Given the description of an element on the screen output the (x, y) to click on. 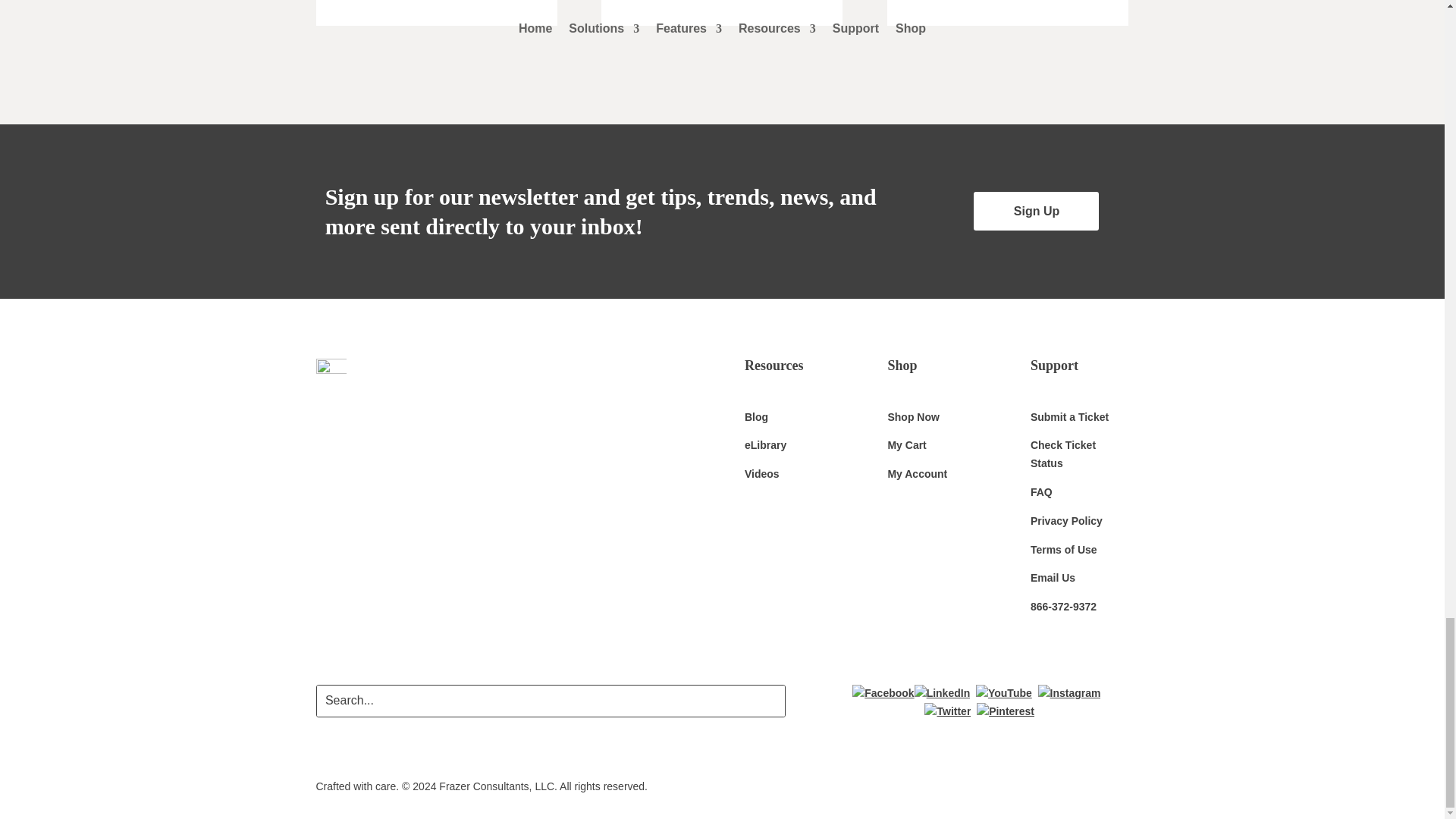
Instagram Page (1069, 693)
Gray-F-404040 (330, 374)
LinkedIn Page (942, 693)
Twitter Page (947, 711)
Facebook Page (882, 693)
Pinterest Page (1004, 711)
YouTube Channel (1003, 693)
